Given the description of an element on the screen output the (x, y) to click on. 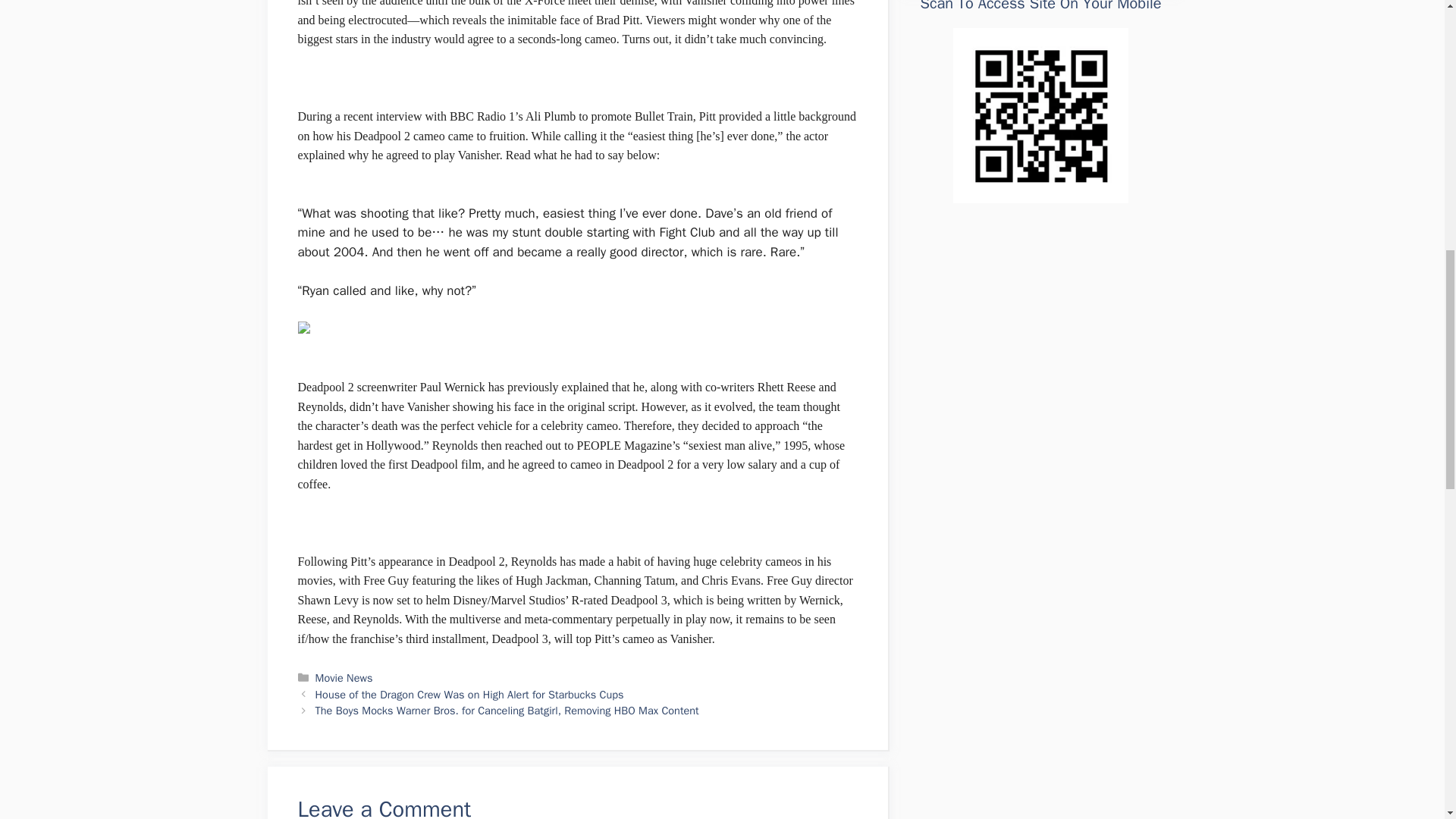
Scroll back to top (1406, 720)
Movie News (343, 677)
